Given the description of an element on the screen output the (x, y) to click on. 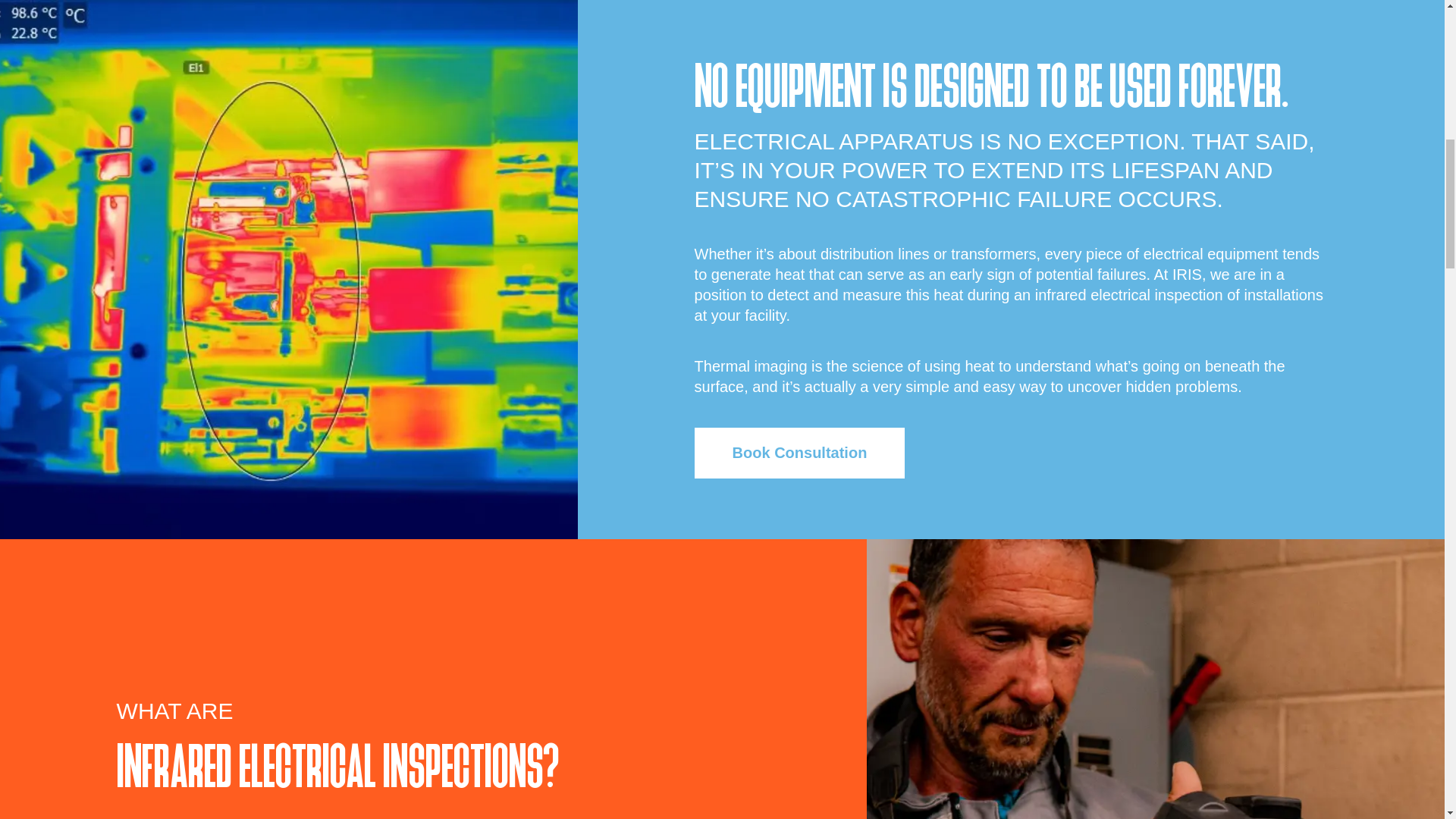
Book Consultation (799, 452)
